Given the description of an element on the screen output the (x, y) to click on. 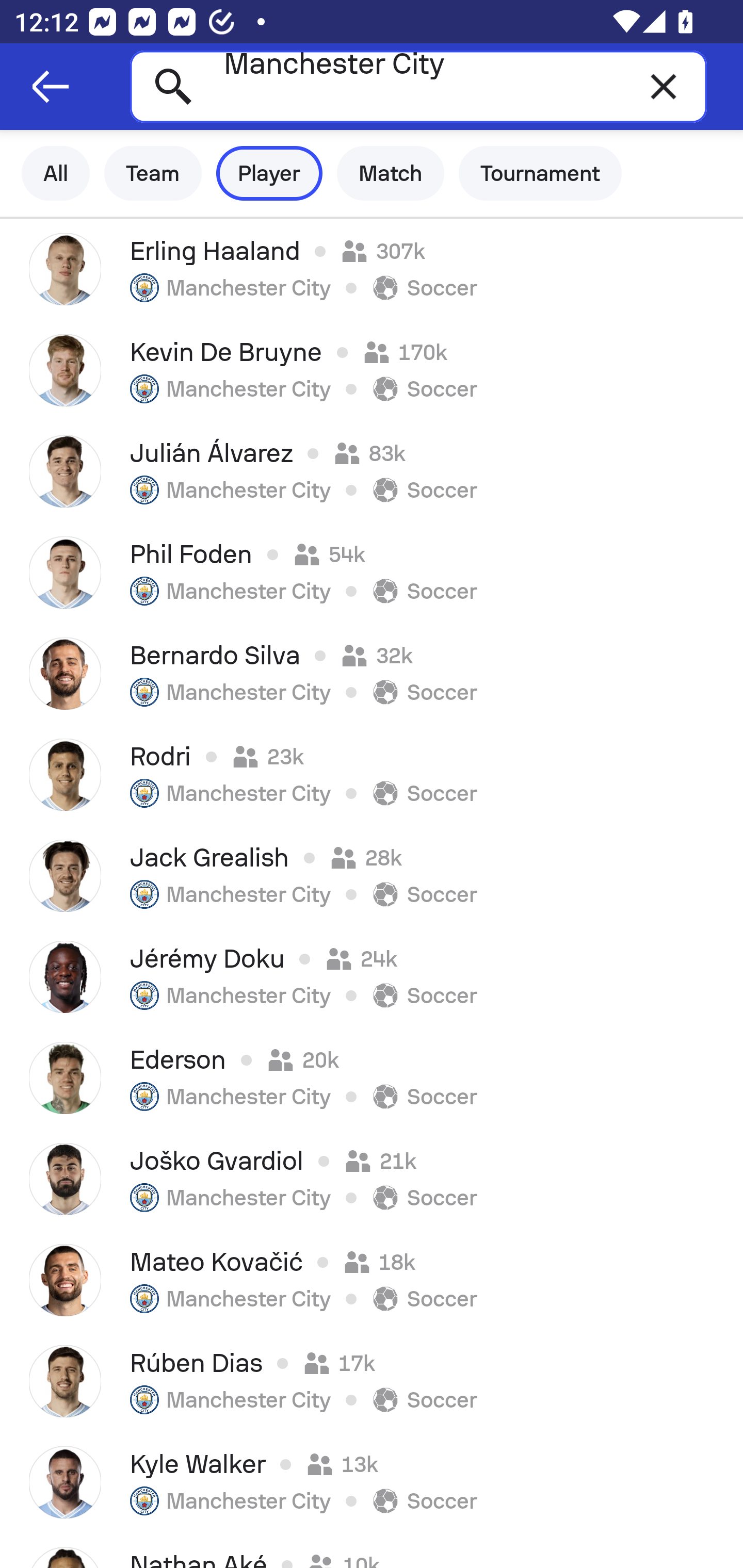
Navigate up (50, 86)
Manchester City
 (418, 86)
Clear text (663, 86)
All (55, 172)
Team (152, 172)
Player (268, 172)
Match (390, 172)
Tournament (540, 172)
Erling Haaland 307k Manchester City Soccer (371, 268)
Kevin De Bruyne 170k Manchester City Soccer (371, 369)
Julián Álvarez 83k Manchester City Soccer (371, 471)
Phil Foden 54k Manchester City Soccer (371, 572)
Bernardo Silva 32k Manchester City Soccer (371, 673)
Rodri 23k Manchester City Soccer (371, 774)
Jack Grealish 28k Manchester City Soccer (371, 875)
Jérémy Doku 24k Manchester City Soccer (371, 976)
Ederson 20k Manchester City Soccer (371, 1077)
Joško Gvardiol 21k Manchester City Soccer (371, 1178)
Mateo Kovačić 18k Manchester City Soccer (371, 1280)
Rúben Dias 17k Manchester City Soccer (371, 1381)
Kyle Walker 13k Manchester City Soccer (371, 1482)
